Given the description of an element on the screen output the (x, y) to click on. 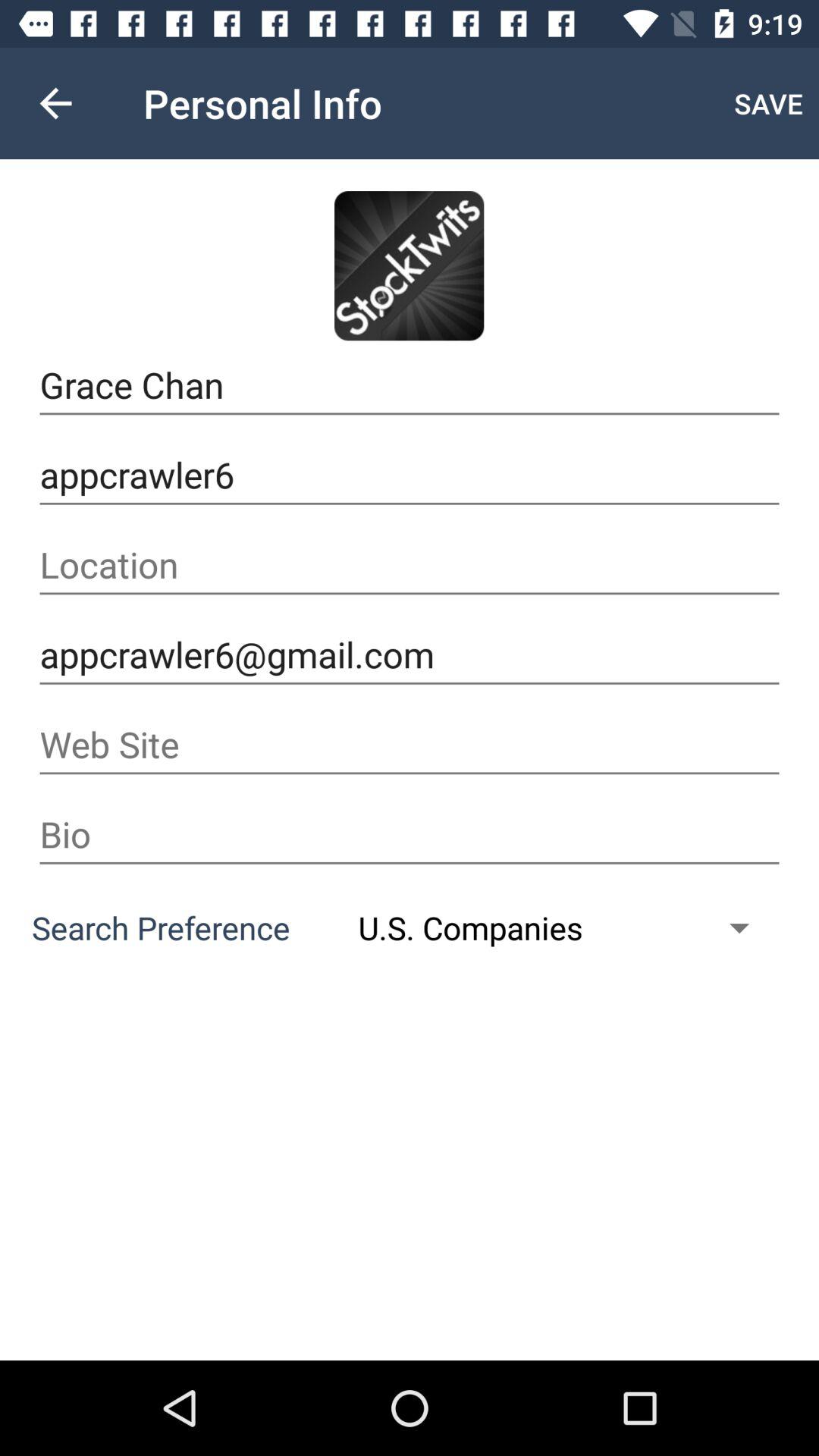
scroll until grace chan icon (409, 385)
